Given the description of an element on the screen output the (x, y) to click on. 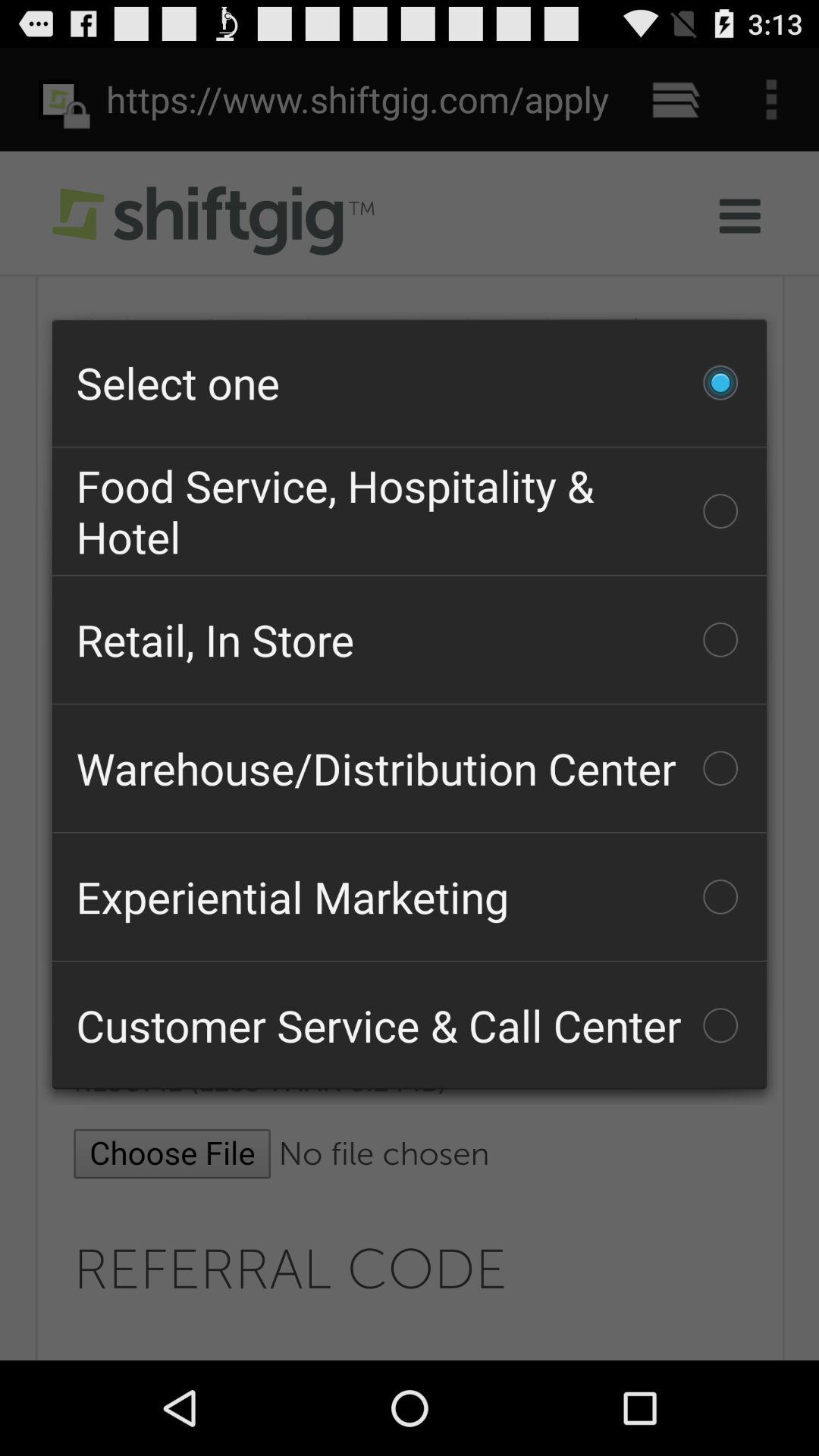
open the experiential marketing item (409, 896)
